Given the description of an element on the screen output the (x, y) to click on. 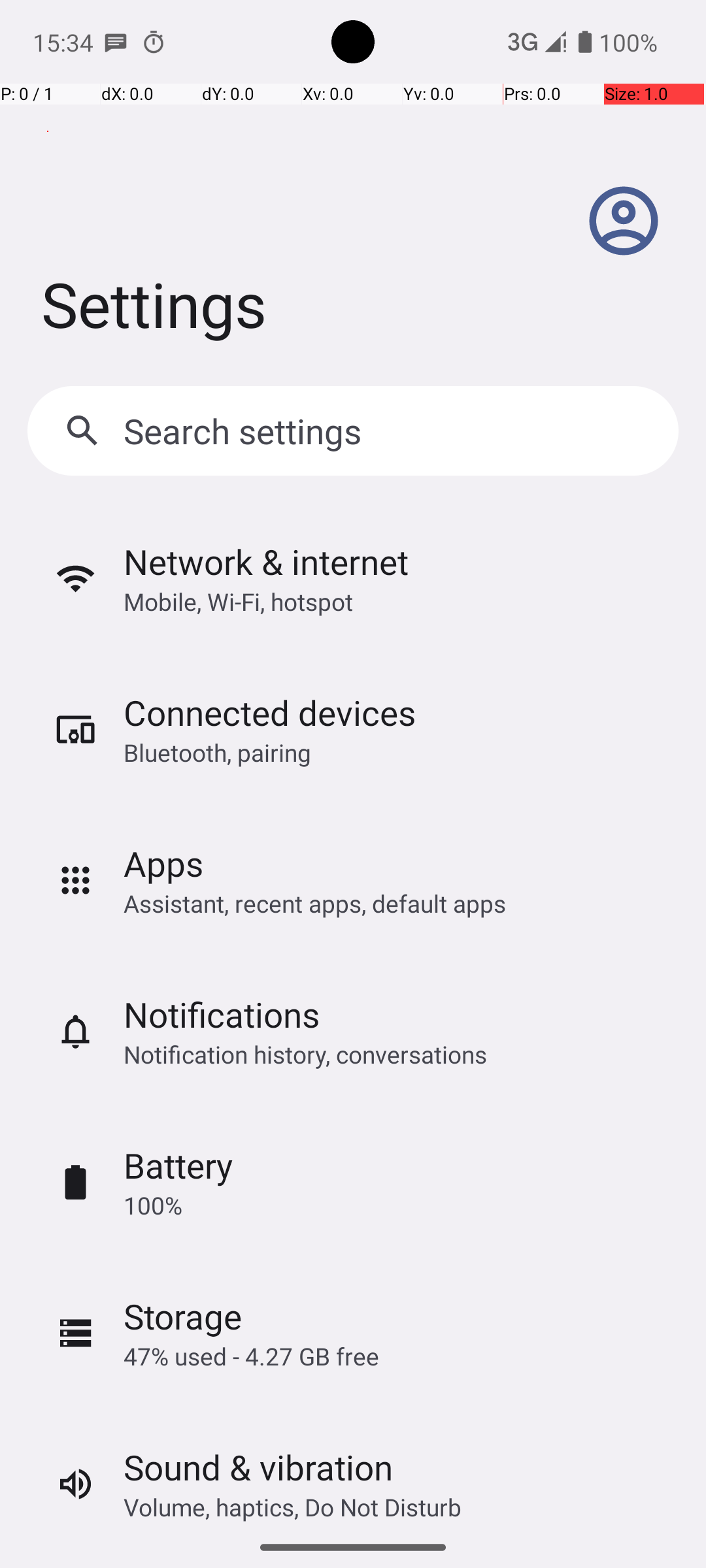
47% used - 4.27 GB free Element type: android.widget.TextView (251, 1355)
